Given the description of an element on the screen output the (x, y) to click on. 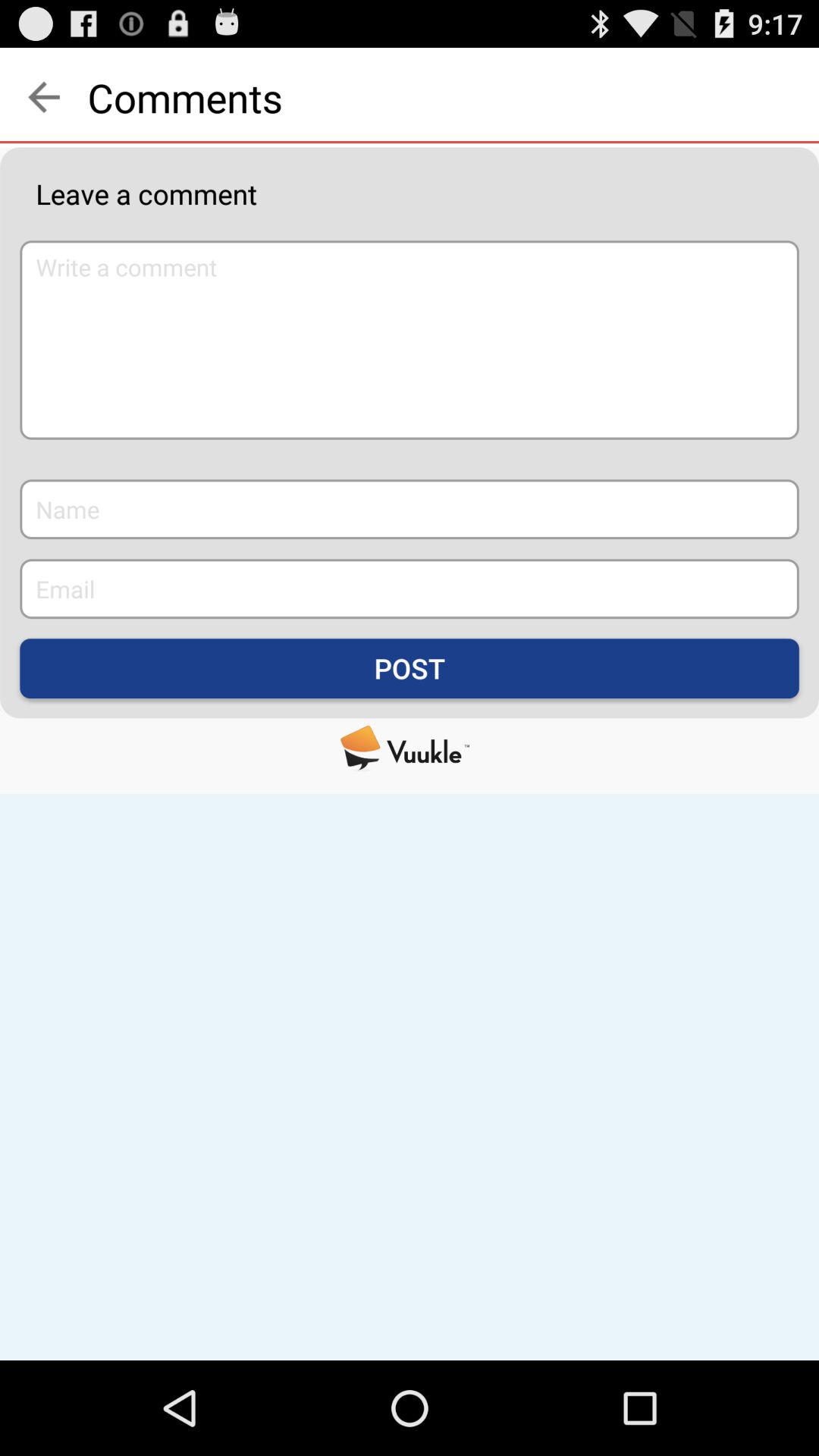
type your name (409, 509)
